Given the description of an element on the screen output the (x, y) to click on. 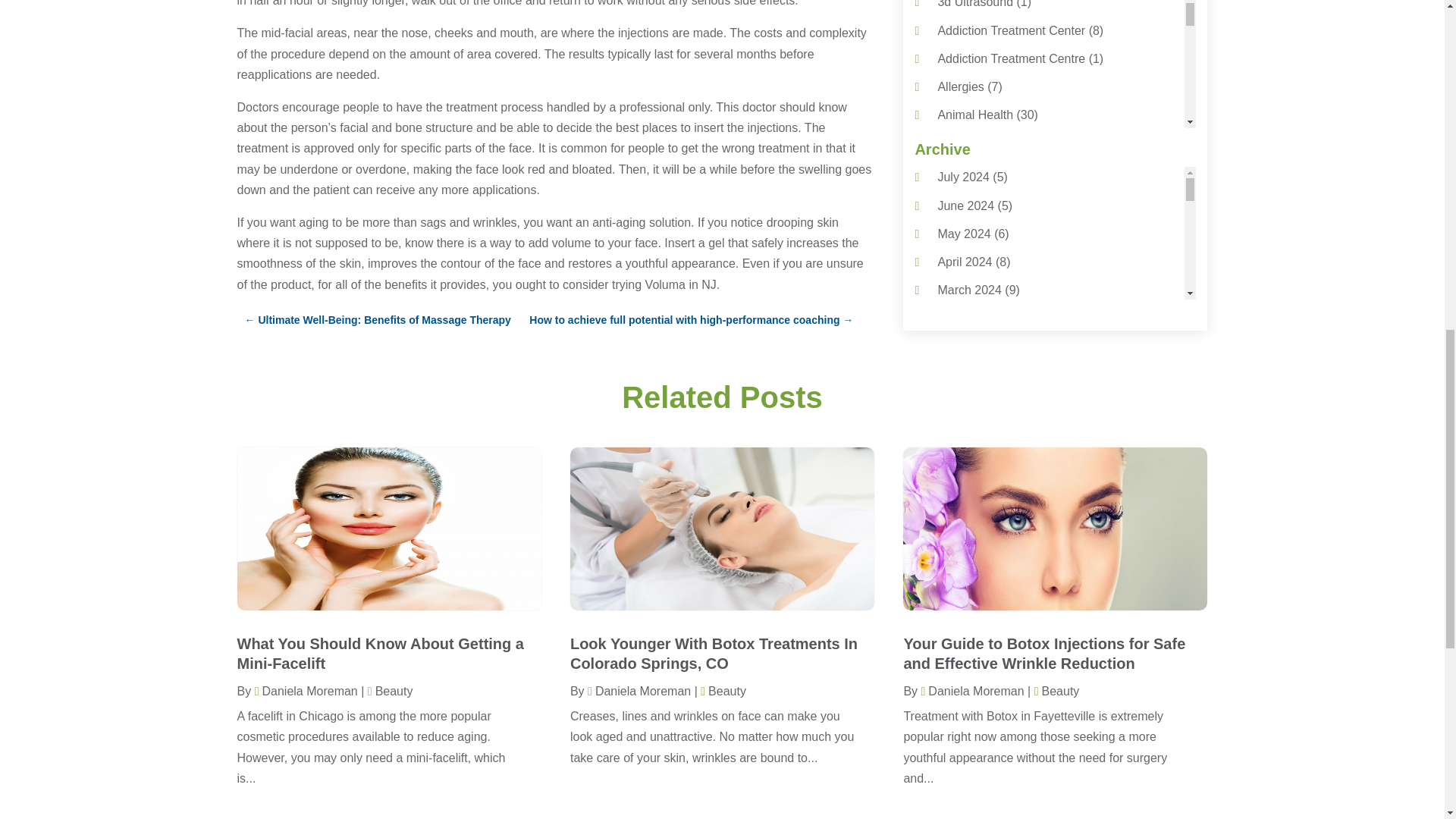
3d Ultrasound (975, 4)
Audiologist (966, 227)
Animal Hospitals (982, 142)
Animal Health (975, 114)
Biotechnology Company (1002, 311)
Breast Surgery (977, 368)
Addiction Treatment Centre (1010, 58)
Assisted Living (977, 170)
Assisted Living Facility (998, 199)
Cancer Treatment Center (1005, 396)
Posts by Daniela Moreman (306, 690)
Posts by Daniela Moreman (639, 690)
Breast Augmentation (993, 340)
Posts by Daniela Moreman (971, 690)
Baby Food (966, 255)
